Given the description of an element on the screen output the (x, y) to click on. 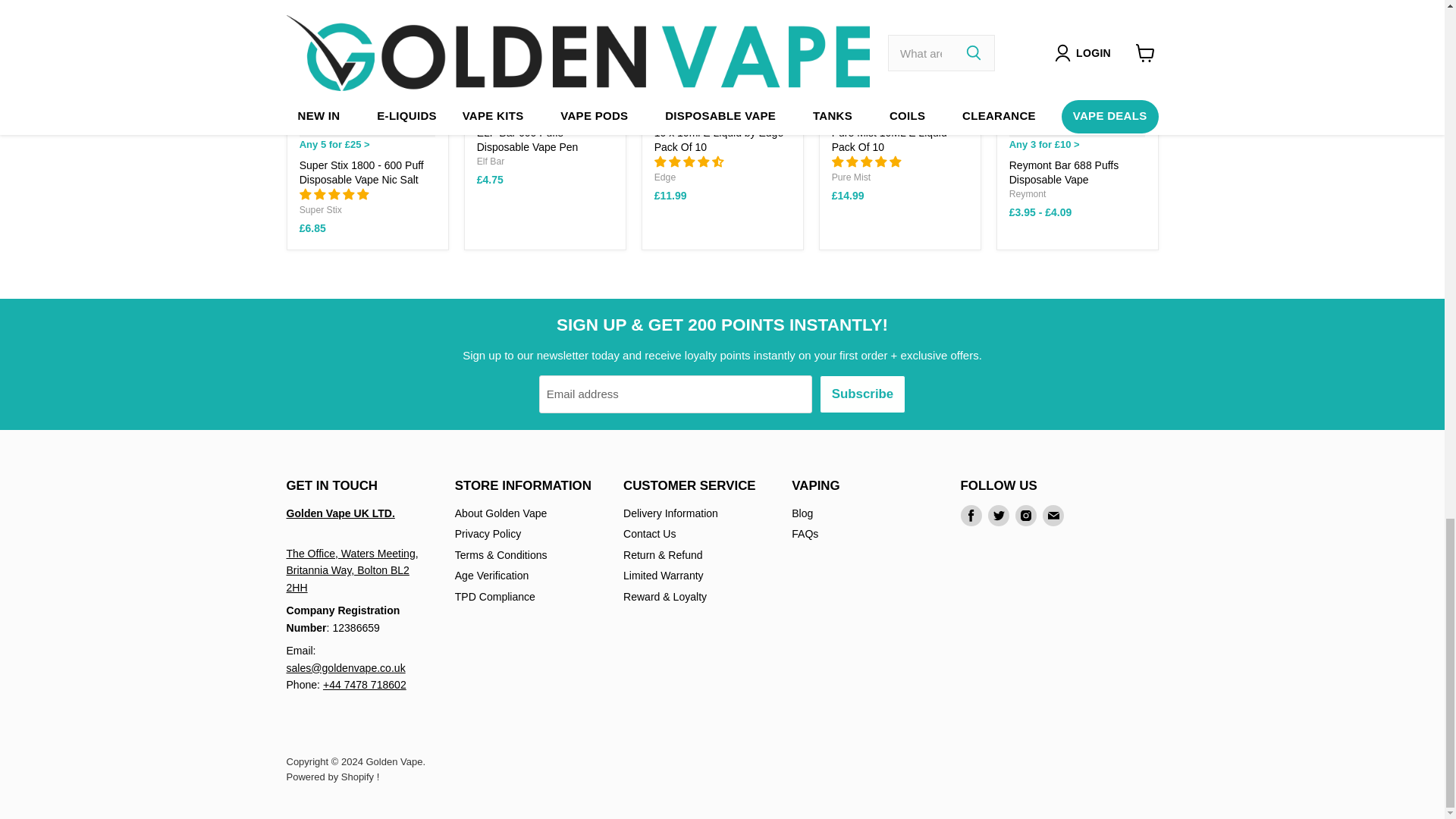
Pure Mist (850, 176)
Elf Bar (491, 161)
Email (1052, 515)
Facebook (970, 515)
Reymont (1027, 194)
Instagram (1024, 515)
Edge (664, 176)
Twitter (998, 515)
Super Stix (320, 209)
